Given the description of an element on the screen output the (x, y) to click on. 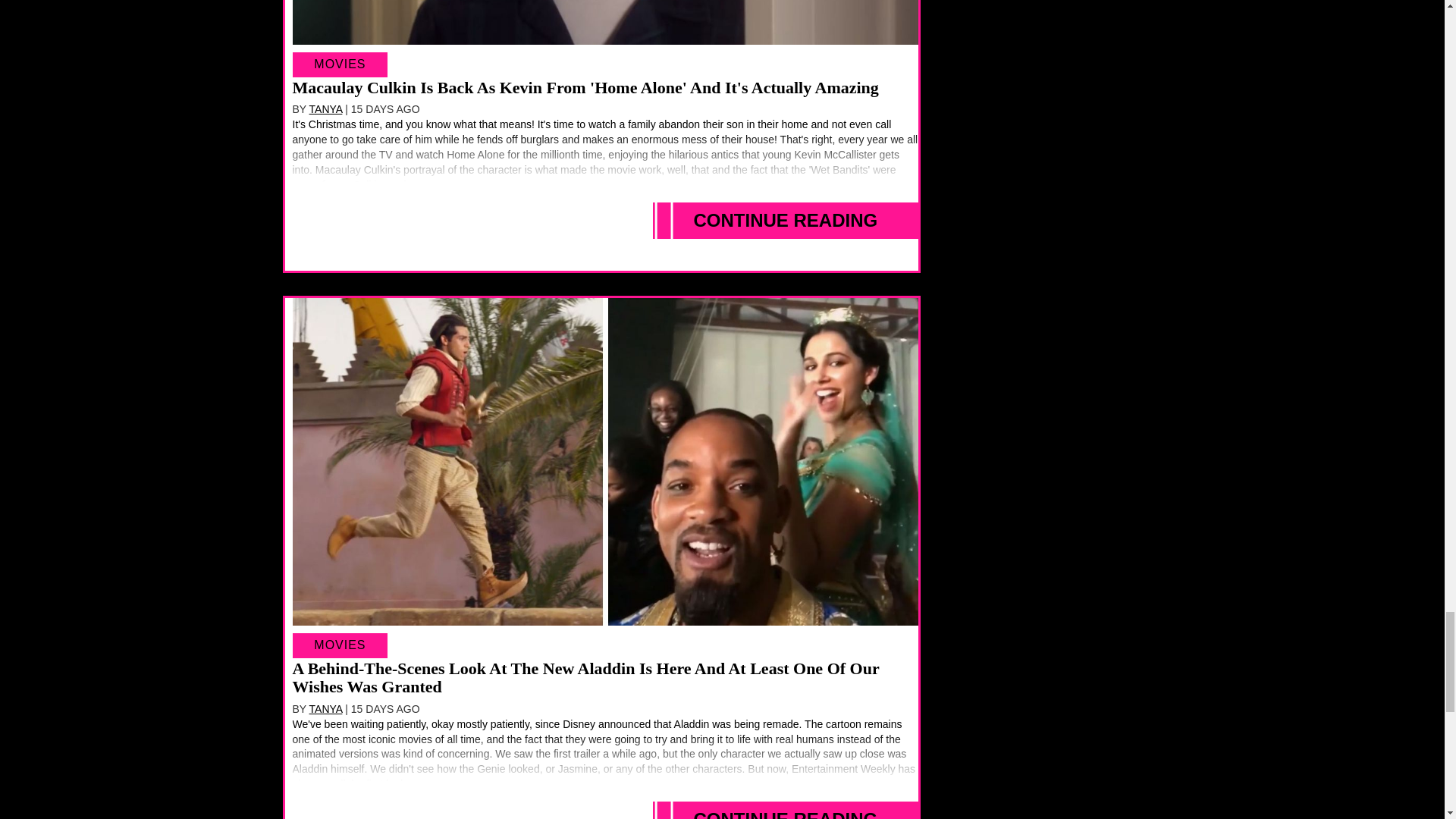
Tanya's Profile (325, 708)
Tanya's Profile (325, 109)
